Given the description of an element on the screen output the (x, y) to click on. 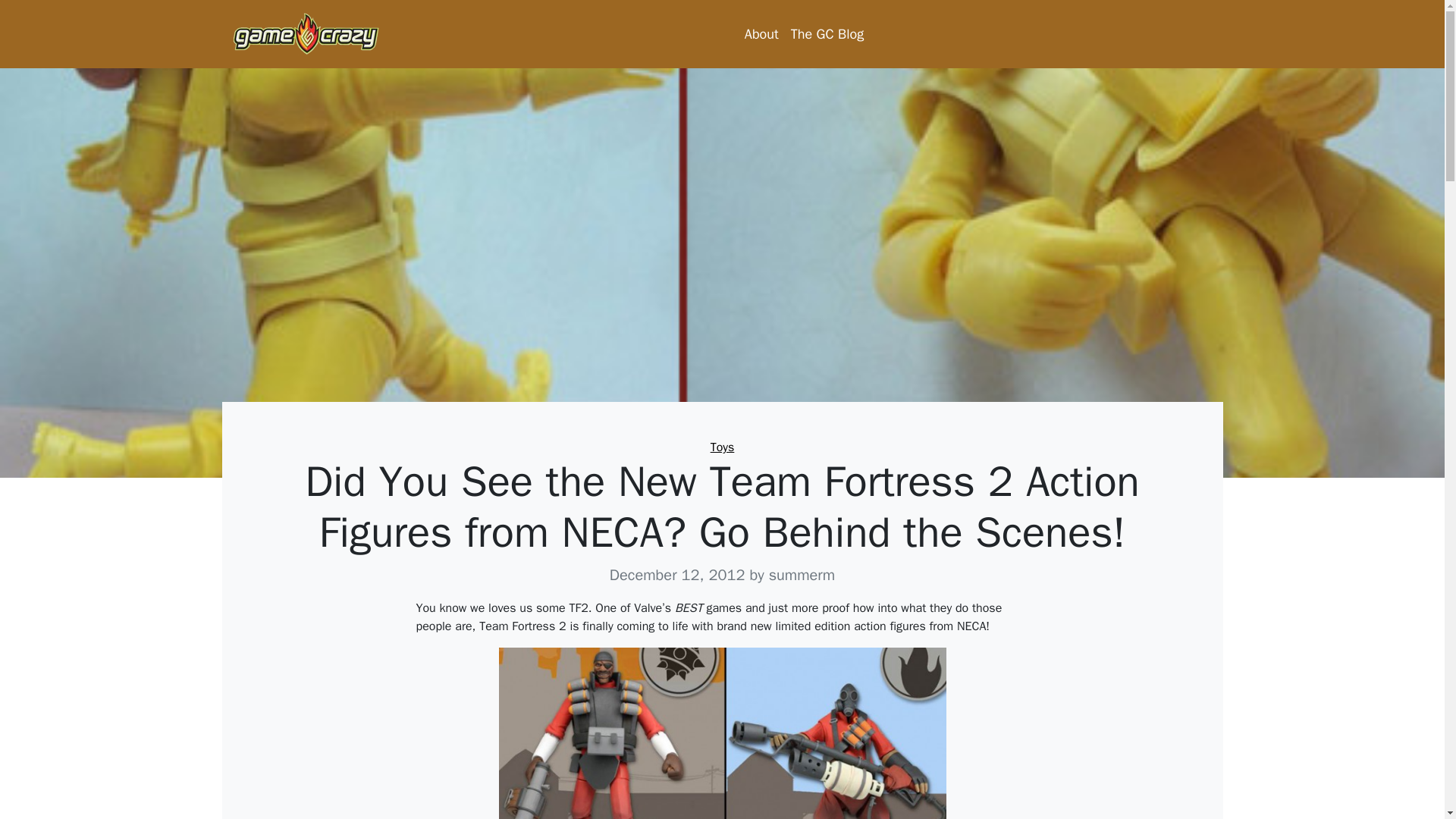
Toys (722, 447)
The GC Blog (826, 34)
tf-feat (722, 733)
About (761, 34)
